Given the description of an element on the screen output the (x, y) to click on. 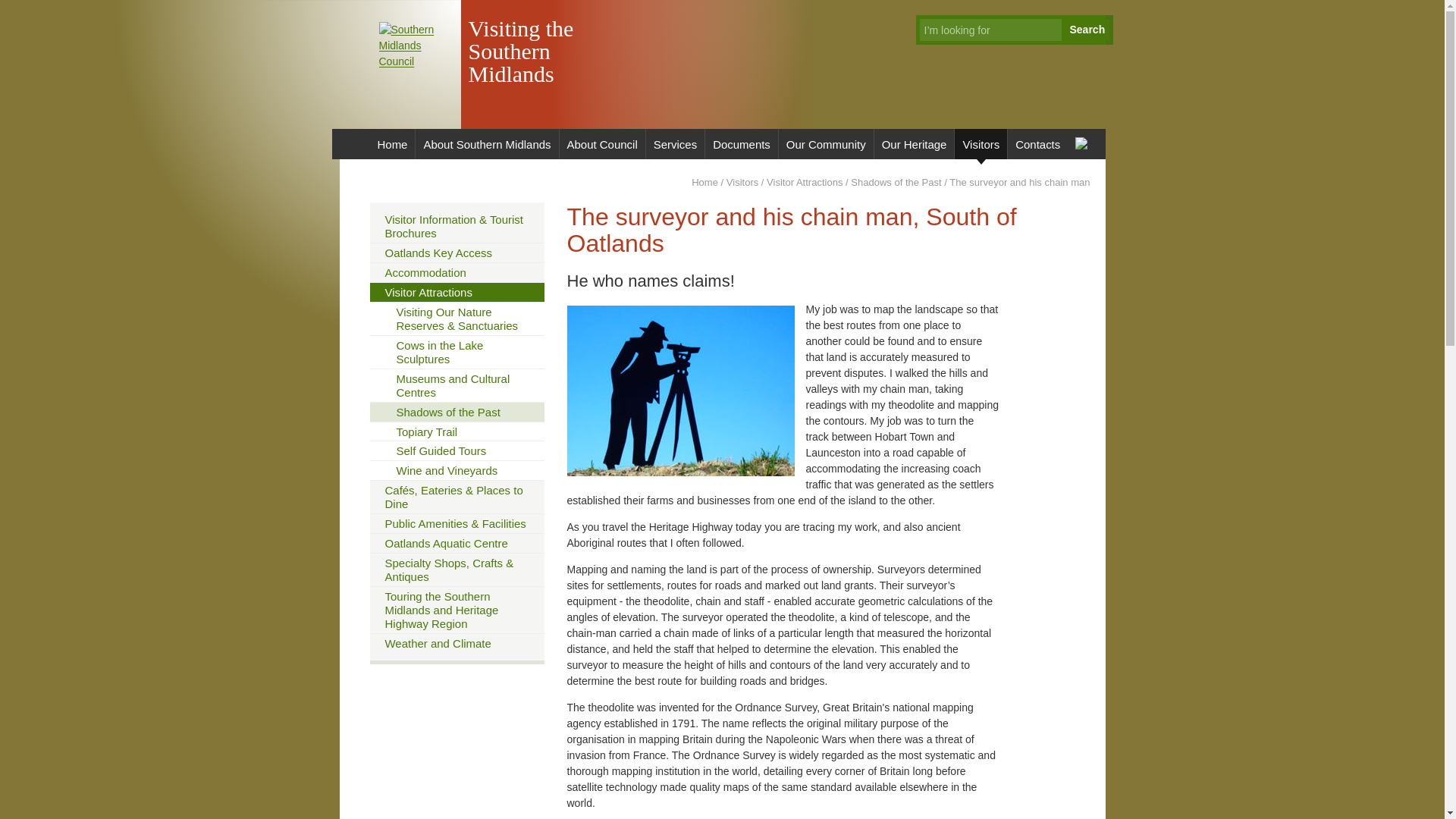
About Council (602, 143)
Search (1086, 29)
About Southern Midlands (485, 143)
Home (391, 143)
Services (675, 143)
Documents (740, 143)
